Given the description of an element on the screen output the (x, y) to click on. 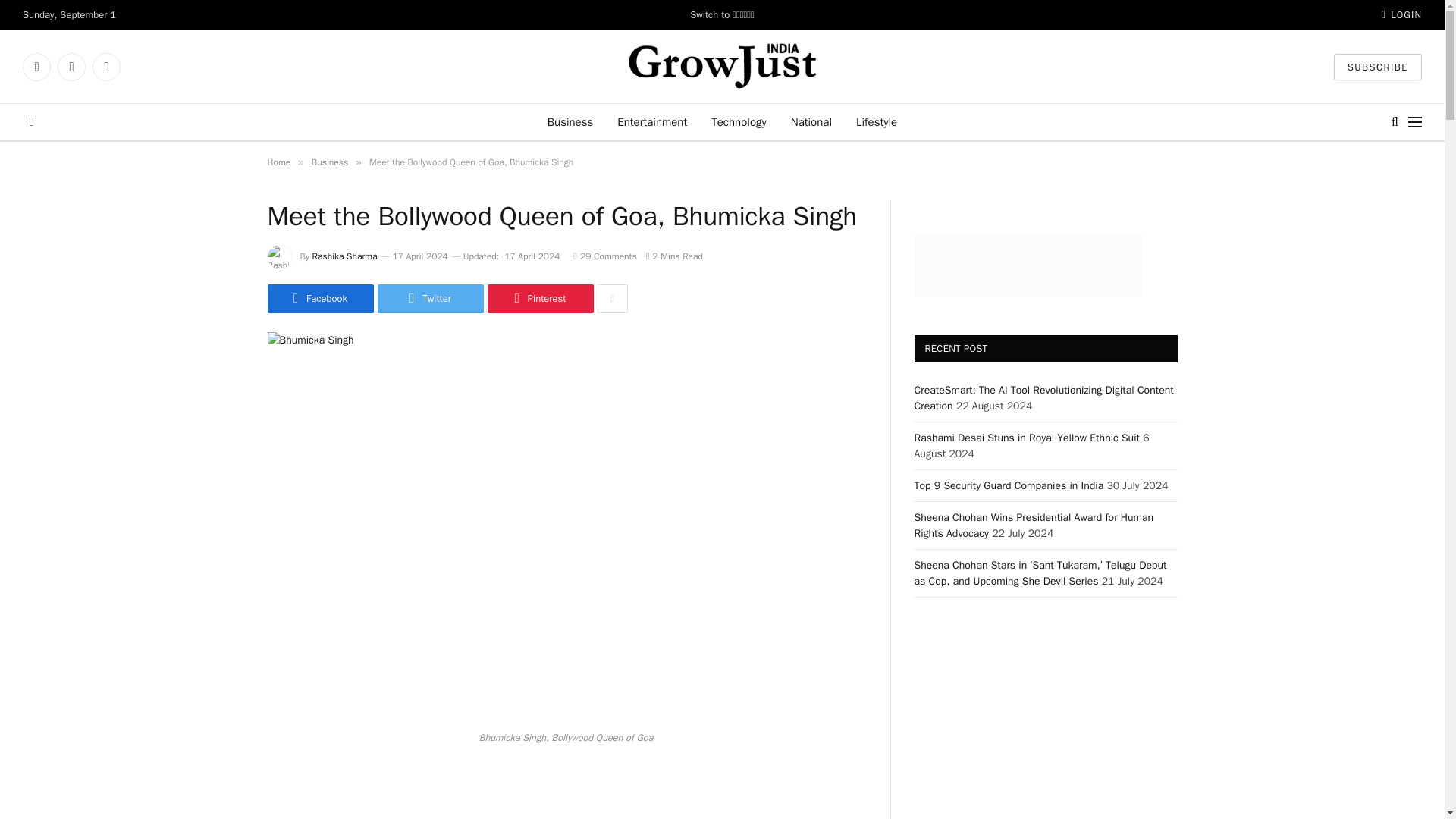
Business (570, 122)
Home (277, 162)
SUBSCRIBE (1377, 66)
Business (329, 162)
29 Comments (604, 256)
Facebook (319, 298)
Rashika Sharma (345, 256)
Switch to Dark Design - easier on eyes. (30, 121)
Lifestyle (876, 122)
GrowJustIndia.com (722, 66)
